Given the description of an element on the screen output the (x, y) to click on. 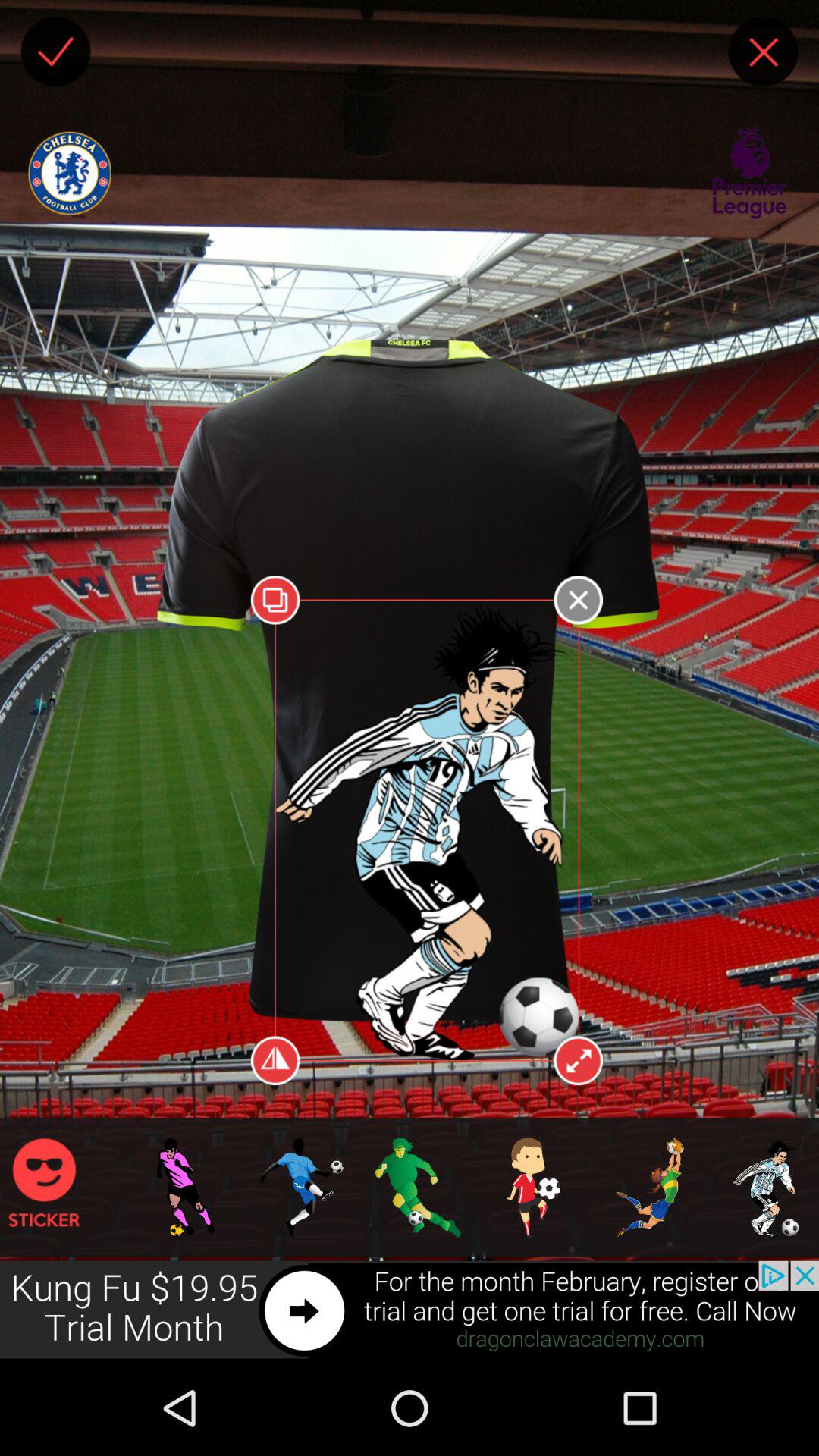
play game (684, 1207)
